Given the description of an element on the screen output the (x, y) to click on. 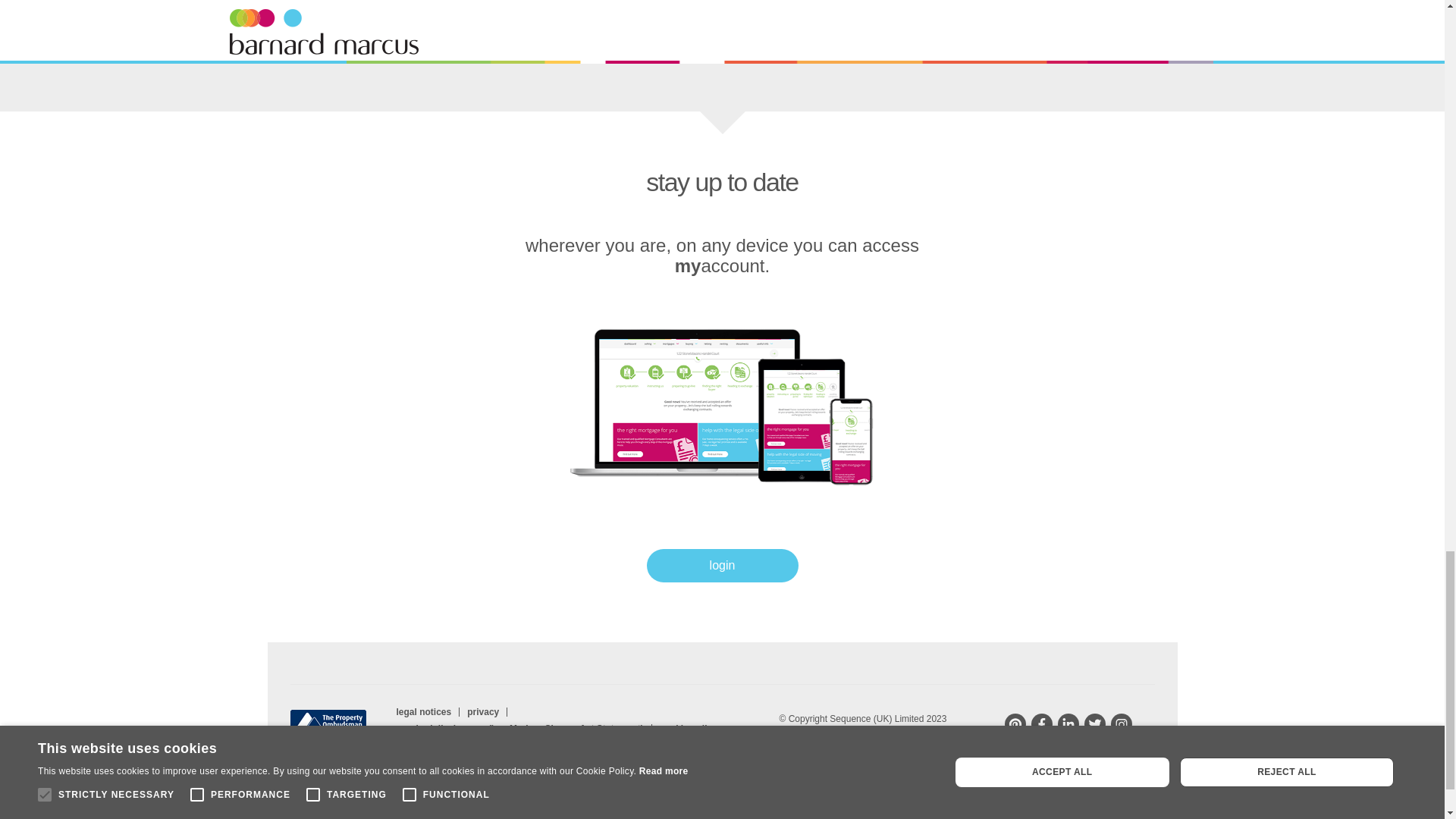
cookie policy (688, 728)
login (721, 565)
login (721, 565)
privacy (483, 711)
Required disclosures (519, 728)
Privacy (483, 711)
sequencehome (1014, 723)
legal notices (424, 711)
SequenceUK (1041, 723)
SequenceUK (1094, 723)
Legal Notices (424, 711)
sequence-uk-ltd (1067, 723)
sequenceuk (1120, 723)
